Given the description of an element on the screen output the (x, y) to click on. 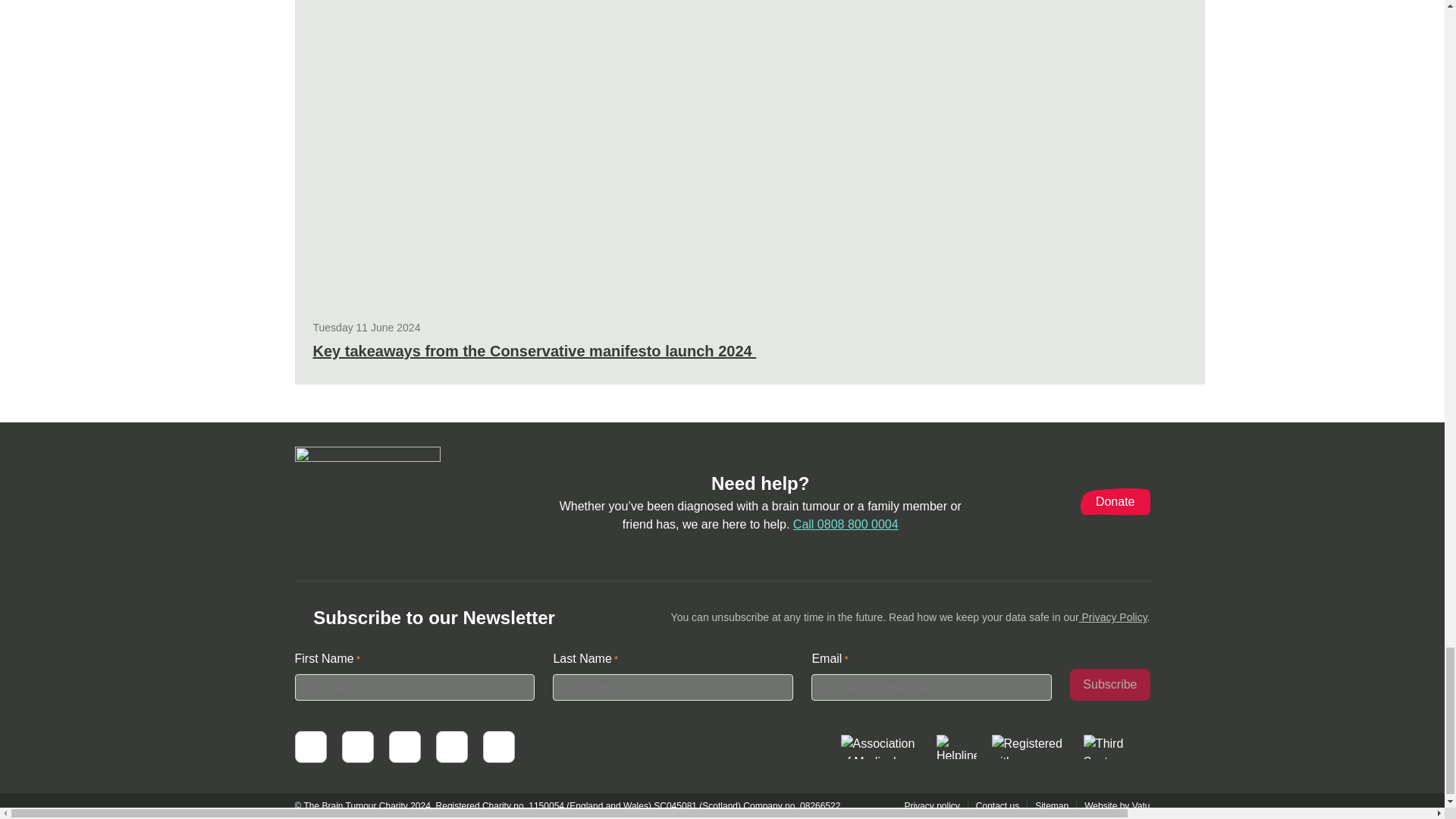
Subscribe (1110, 685)
YouTube (404, 746)
Facebook (310, 746)
Twitter (356, 746)
Instagram (497, 746)
Tiktok (451, 746)
